Given the description of an element on the screen output the (x, y) to click on. 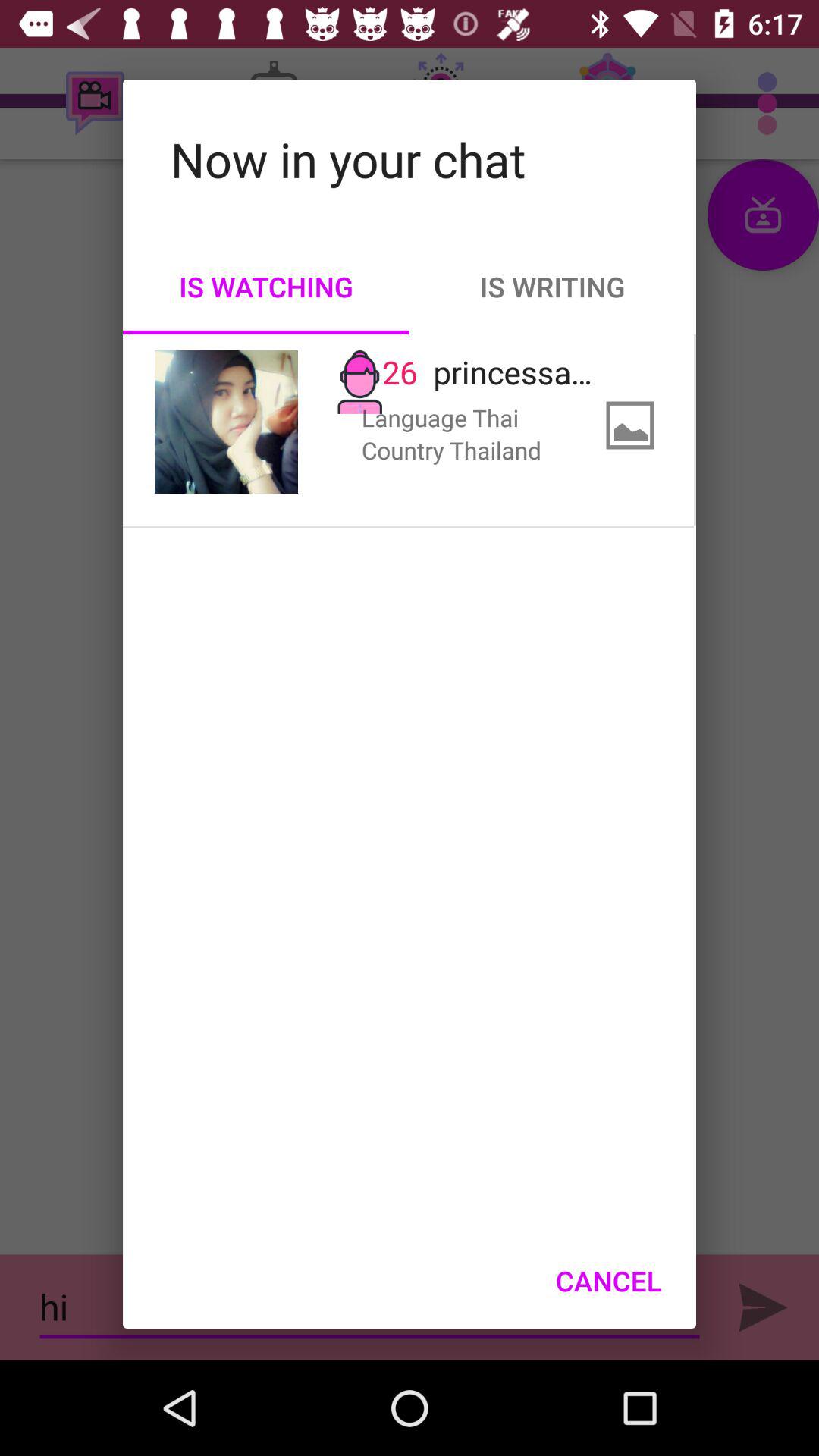
view profile (226, 421)
